Given the description of an element on the screen output the (x, y) to click on. 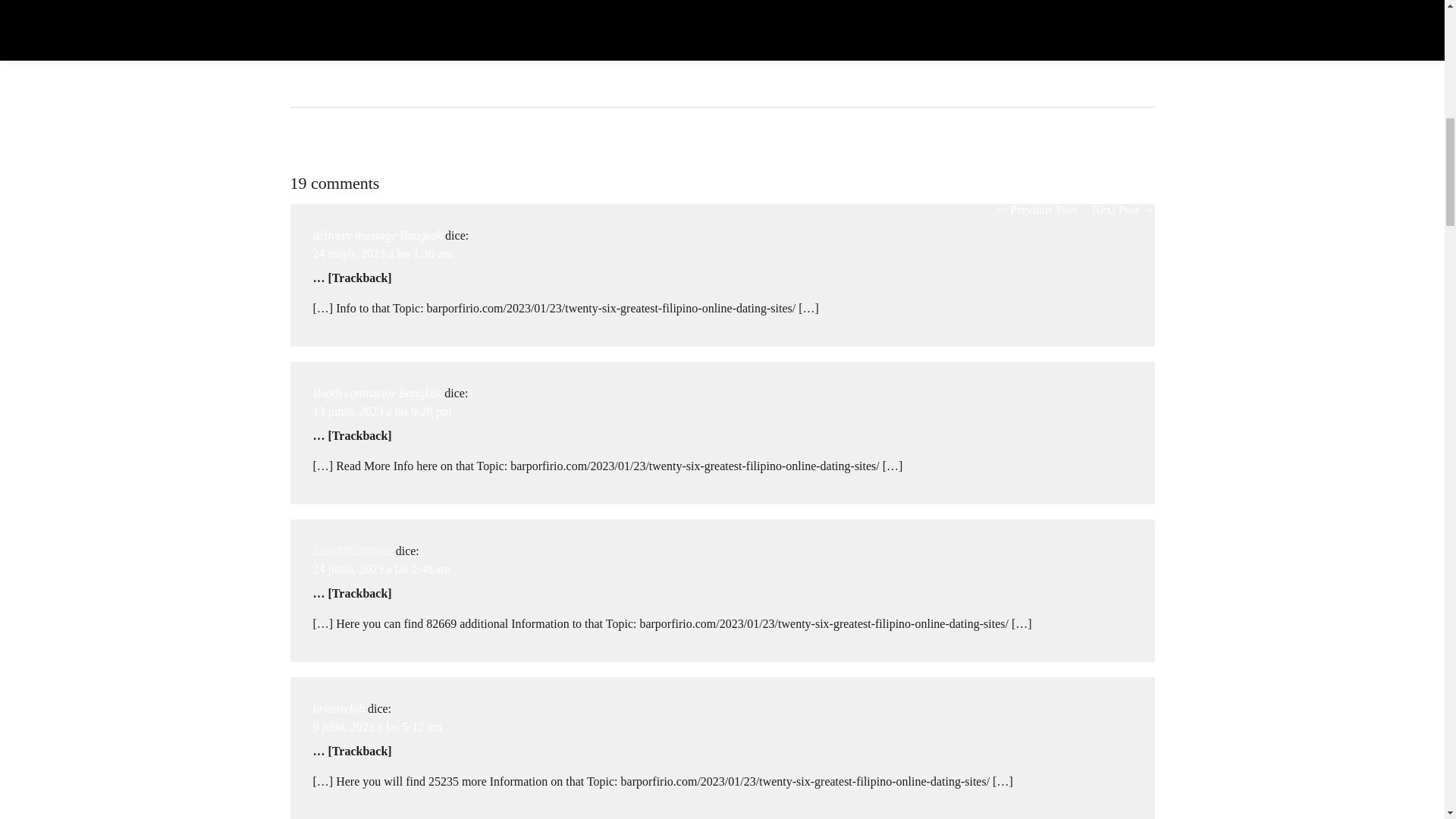
delivery massage Bangkok (377, 235)
13 junio, 2023 a las 9:20 pm (382, 410)
briansclub (338, 707)
Booth contractor Bangkok (377, 392)
9 julio, 2023 a las 5:12 am (377, 726)
0 (344, 147)
24 mayo, 2023 a las 1:30 am (382, 253)
19 (306, 147)
24 junio, 2023 a las 2:48 am (381, 568)
